Given the description of an element on the screen output the (x, y) to click on. 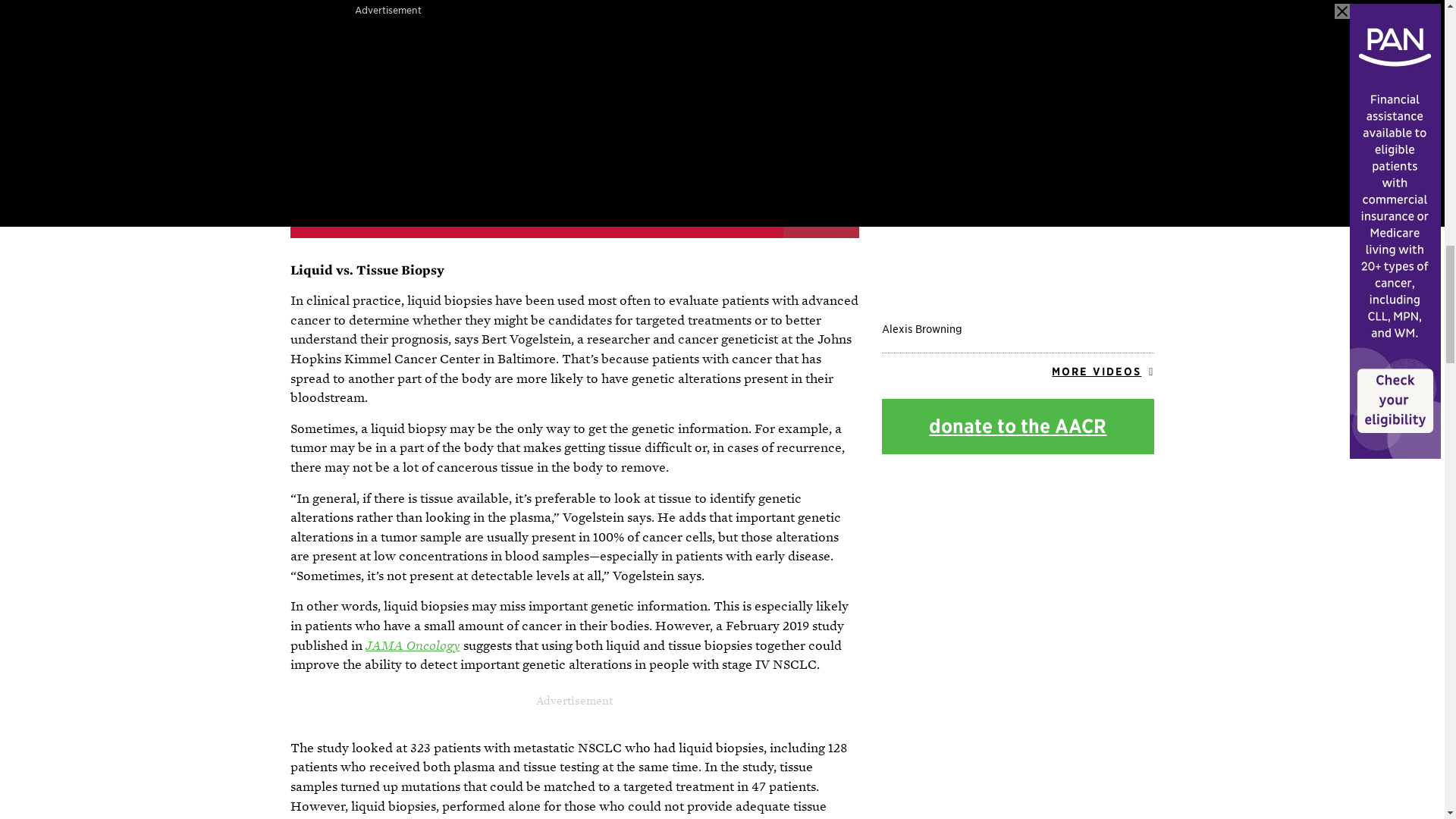
Alexis Browning (1017, 233)
